Given the description of an element on the screen output the (x, y) to click on. 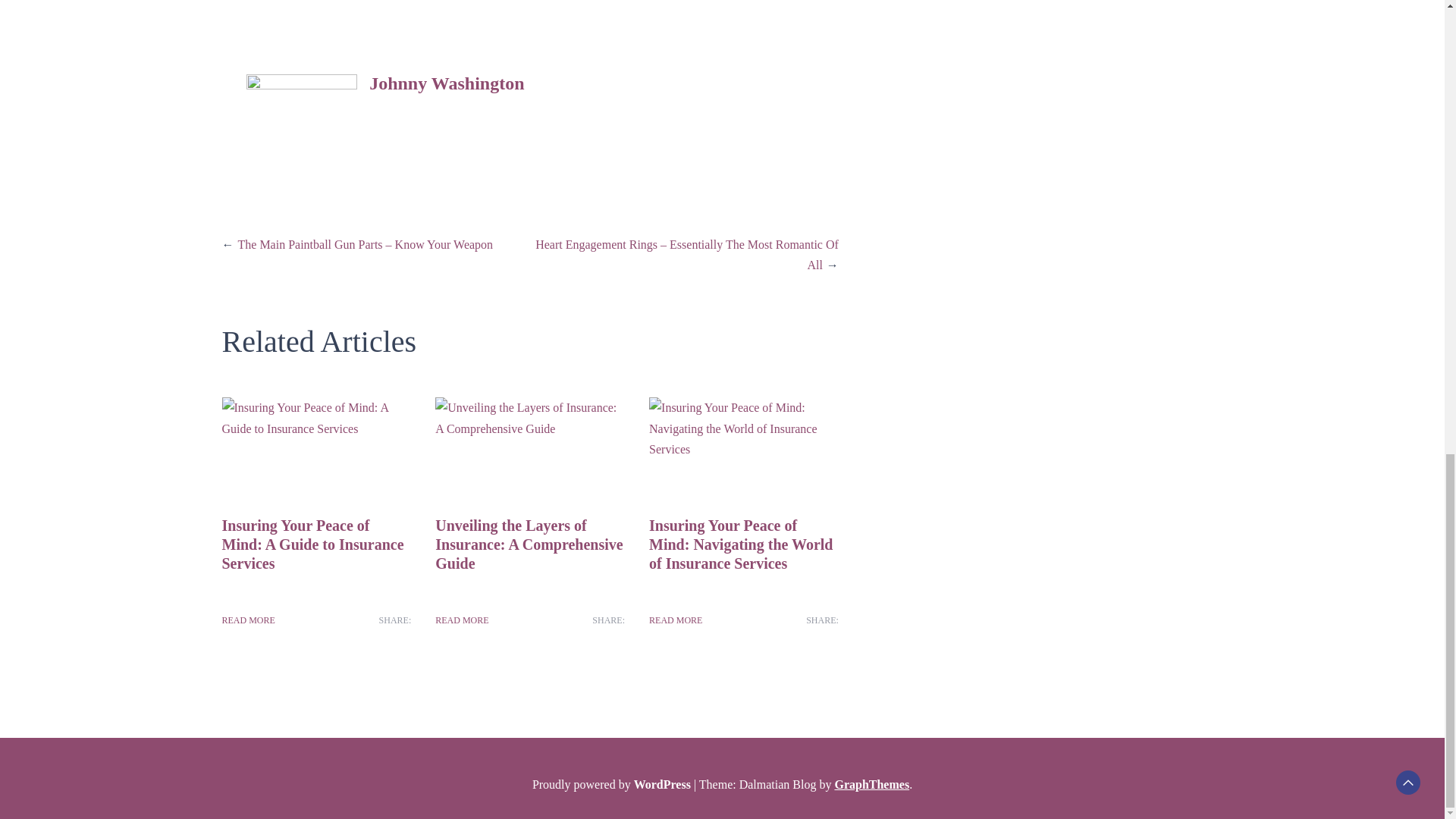
Proudly powered by WordPress (613, 784)
Insuring Your Peace of Mind: A Guide to Insurance Services (312, 543)
Unveiling the Layers of Insurance: A Comprehensive Guide (529, 543)
GraphThemes (871, 784)
READ MORE (675, 620)
READ MORE (461, 620)
Johnny Washington (446, 83)
READ MORE (248, 620)
